Given the description of an element on the screen output the (x, y) to click on. 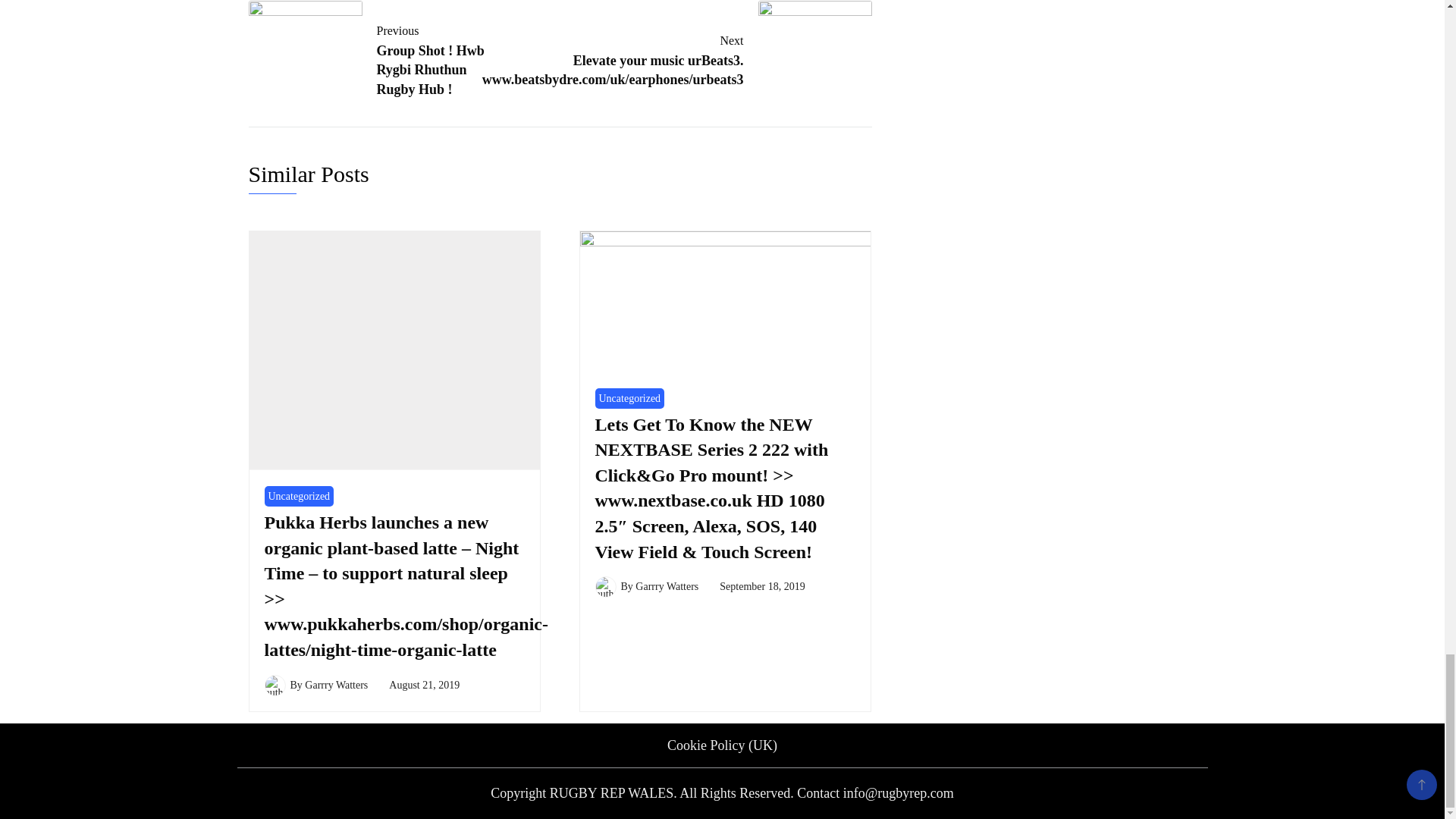
Uncategorized (628, 398)
Uncategorized (298, 496)
September 18, 2019 (762, 586)
Garrry Watters (336, 685)
August 21, 2019 (424, 685)
Garrry Watters (382, 59)
